Given the description of an element on the screen output the (x, y) to click on. 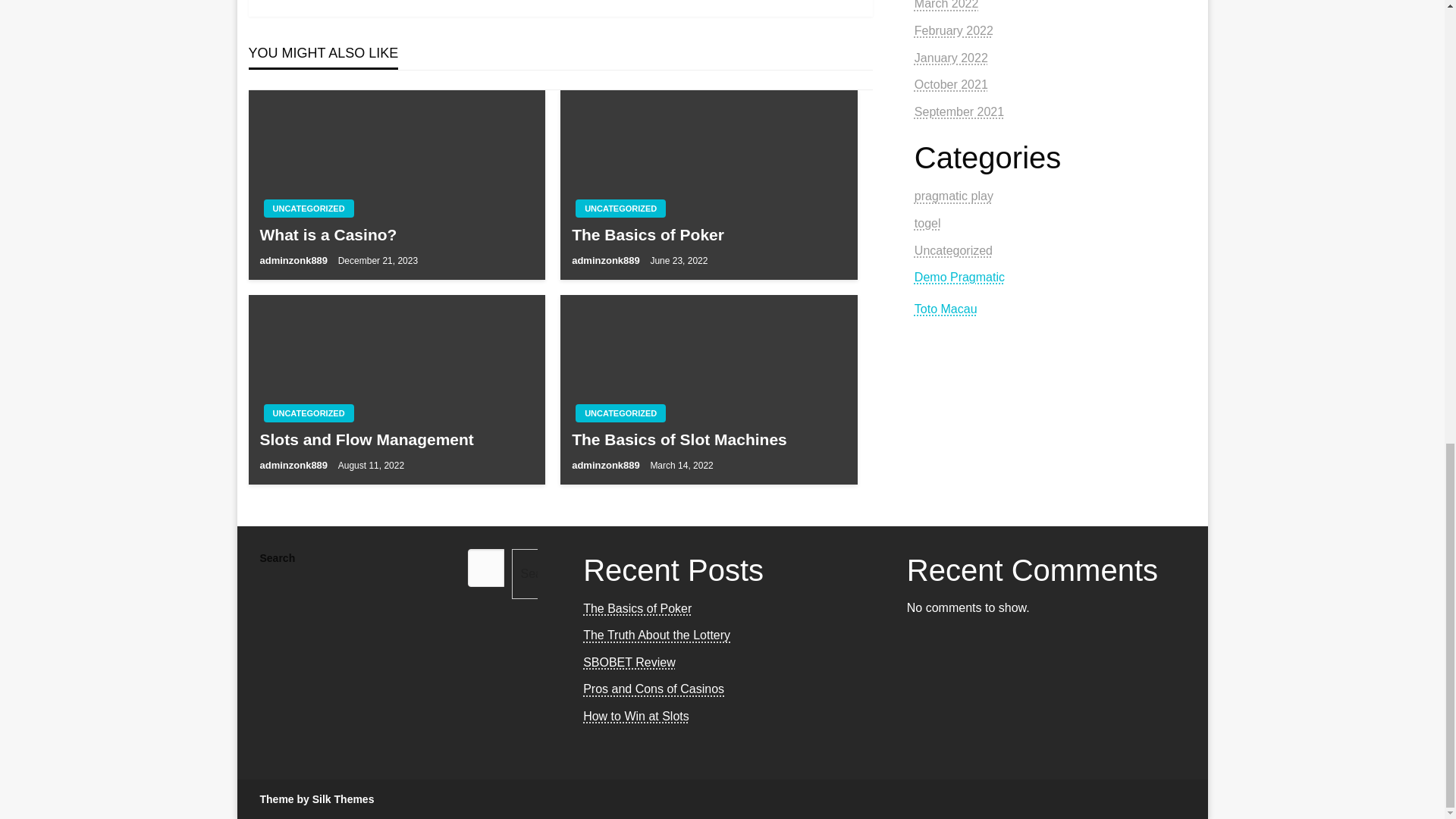
adminzonk889 (294, 464)
UNCATEGORIZED (308, 413)
Slots and Flow Management (396, 439)
The Basics of Poker (708, 234)
UNCATEGORIZED (308, 208)
What is a Casino? (396, 234)
adminzonk889 (607, 464)
adminzonk889 (607, 260)
The Basics of Slot Machines (708, 439)
UNCATEGORIZED (620, 208)
